Given the description of an element on the screen output the (x, y) to click on. 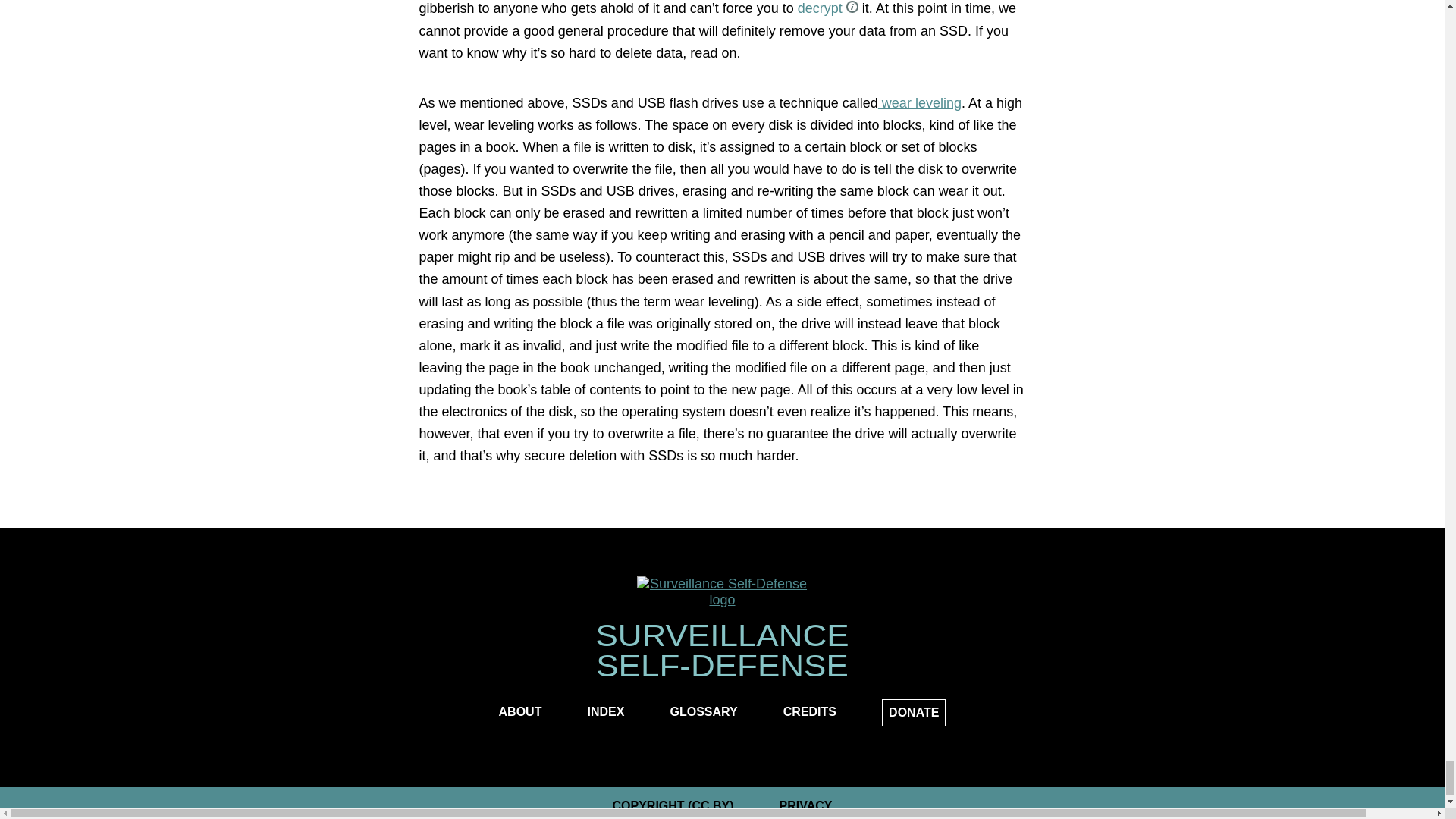
Home (722, 592)
